Given the description of an element on the screen output the (x, y) to click on. 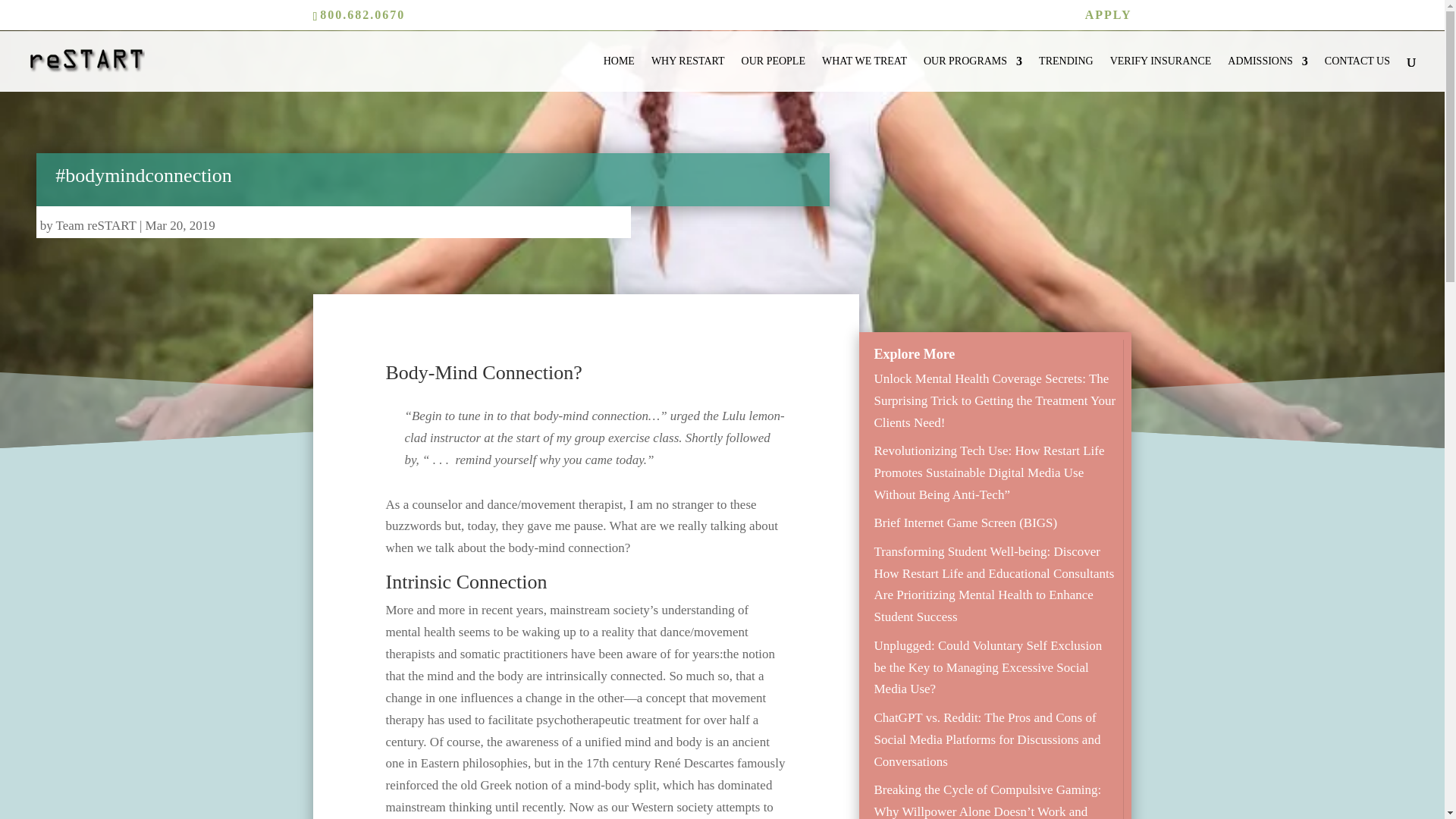
OUR PEOPLE (773, 73)
APPLY (1108, 19)
WHY RESTART (687, 73)
ADMISSIONS (1267, 73)
VERIFY INSURANCE (1160, 73)
OUR PROGRAMS (972, 73)
Posts by Team reSTART (96, 225)
TRENDING (1066, 73)
WHAT WE TREAT (864, 73)
CONTACT US (1357, 73)
